Given the description of an element on the screen output the (x, y) to click on. 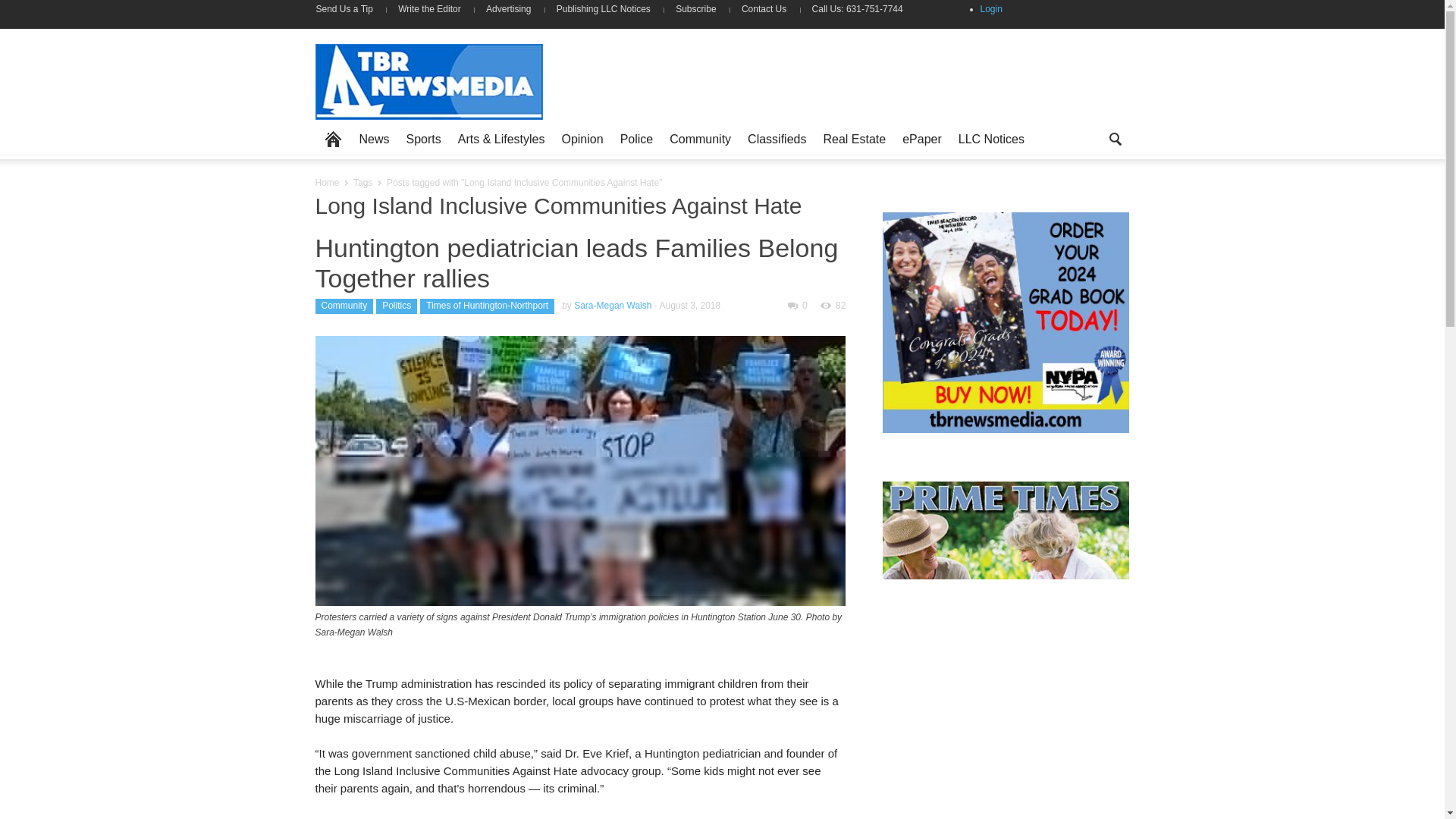
Advertising (507, 9)
Send Us a Tip (349, 9)
Write the Editor (429, 9)
Contact Us (763, 9)
Write the Editor (429, 9)
Send Us a Tip (349, 9)
Advertising (507, 9)
